Given the description of an element on the screen output the (x, y) to click on. 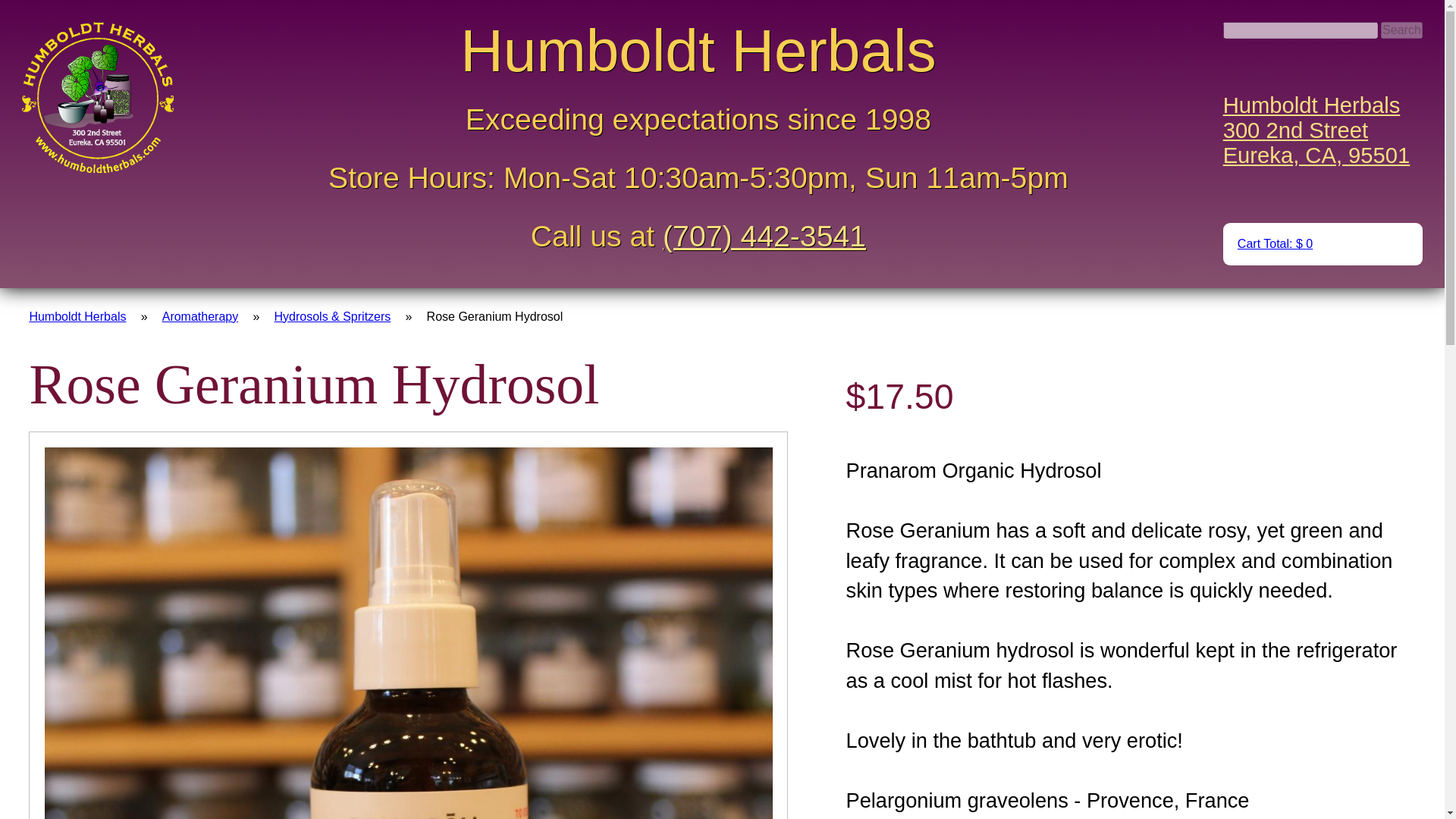
Humboldt Herbals (77, 316)
Aromatherapy (199, 316)
Search (1316, 130)
Search (1401, 30)
